Given the description of an element on the screen output the (x, y) to click on. 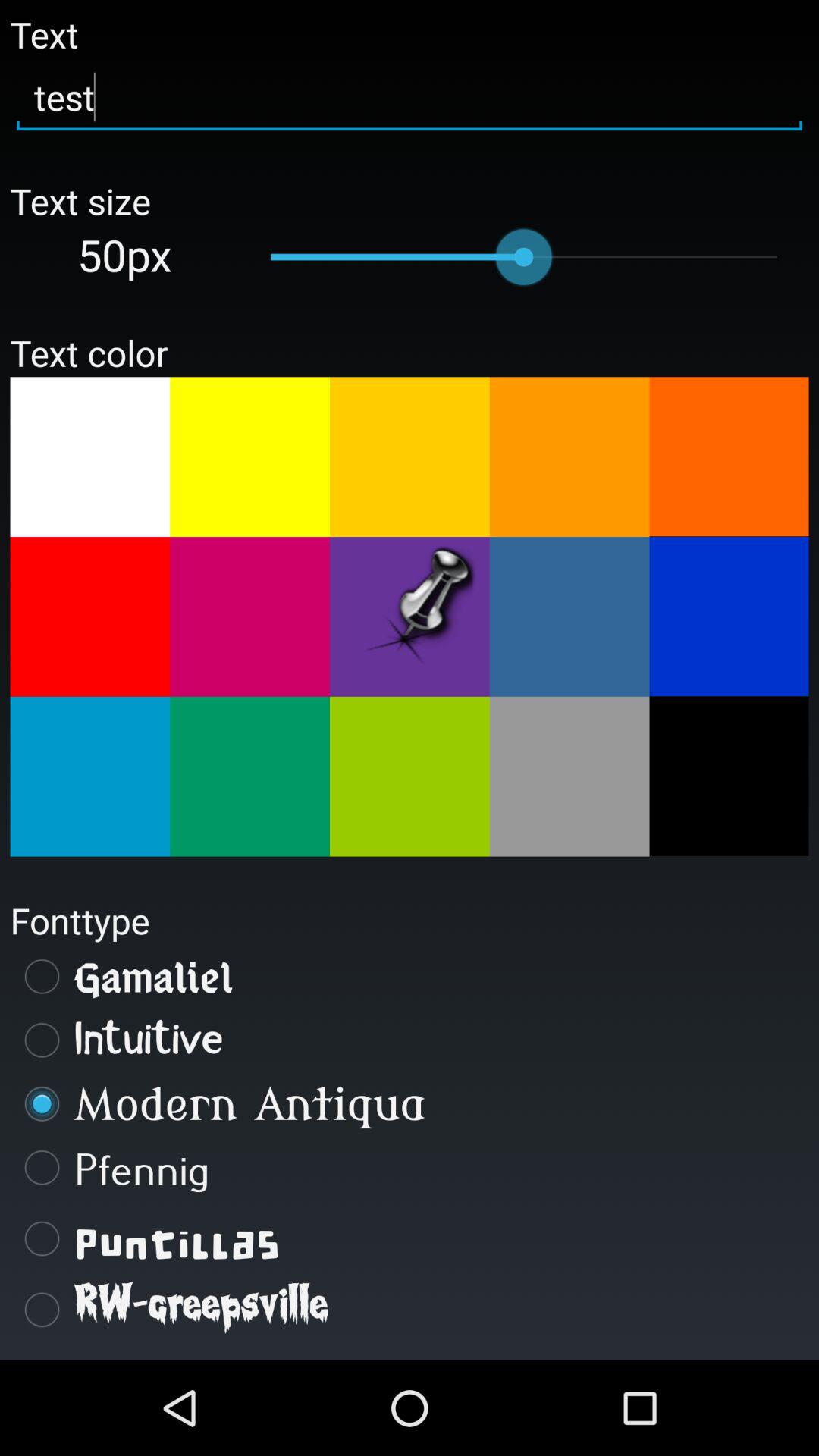
change text color (409, 456)
